Given the description of an element on the screen output the (x, y) to click on. 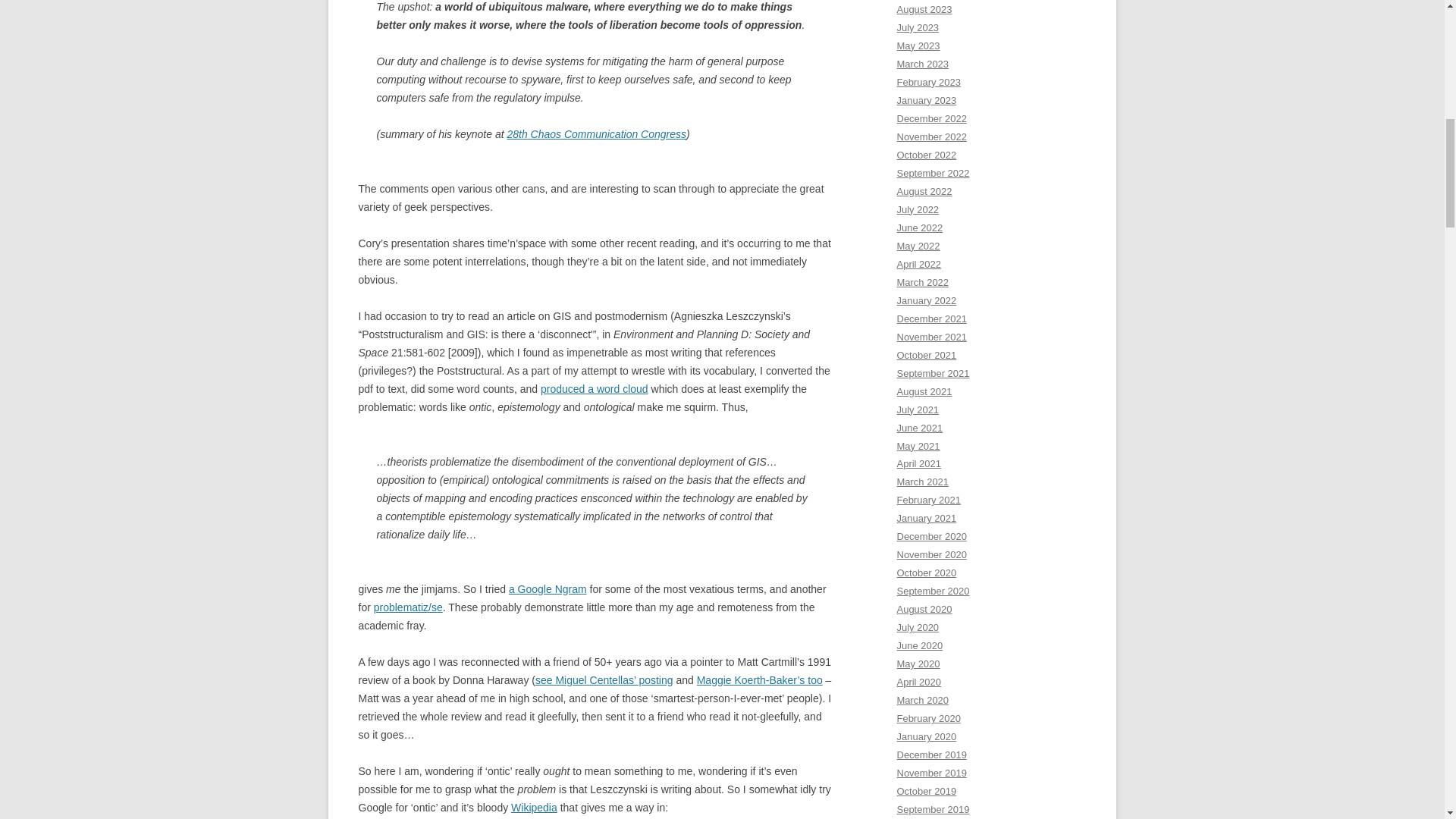
a Google Ngram (547, 589)
28th Chaos Communication Congress (595, 133)
produced a word cloud (593, 388)
Wikipedia (534, 807)
